Given the description of an element on the screen output the (x, y) to click on. 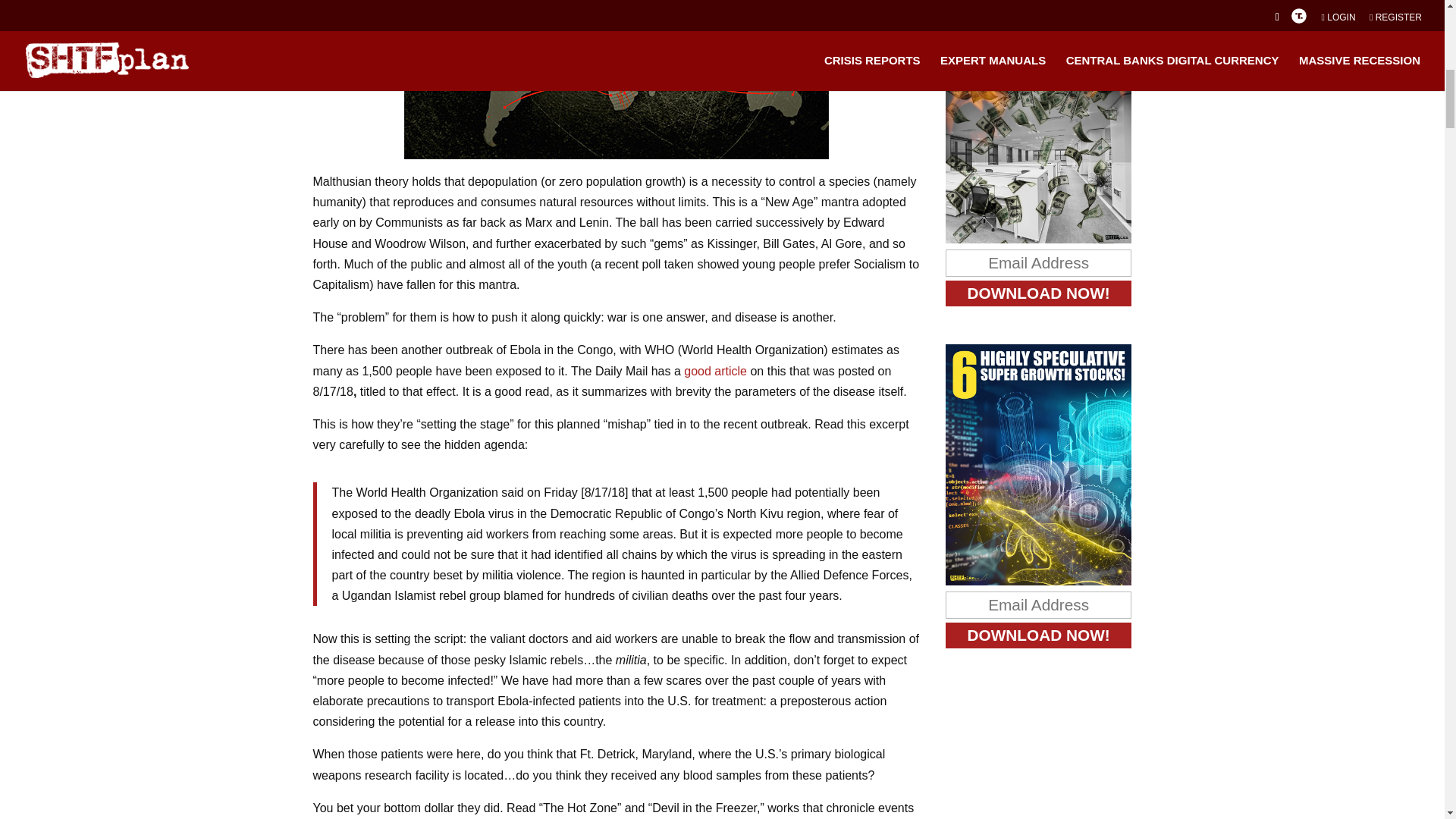
Download Now! (1038, 293)
Download Now! (1038, 635)
good article (715, 370)
